Given the description of an element on the screen output the (x, y) to click on. 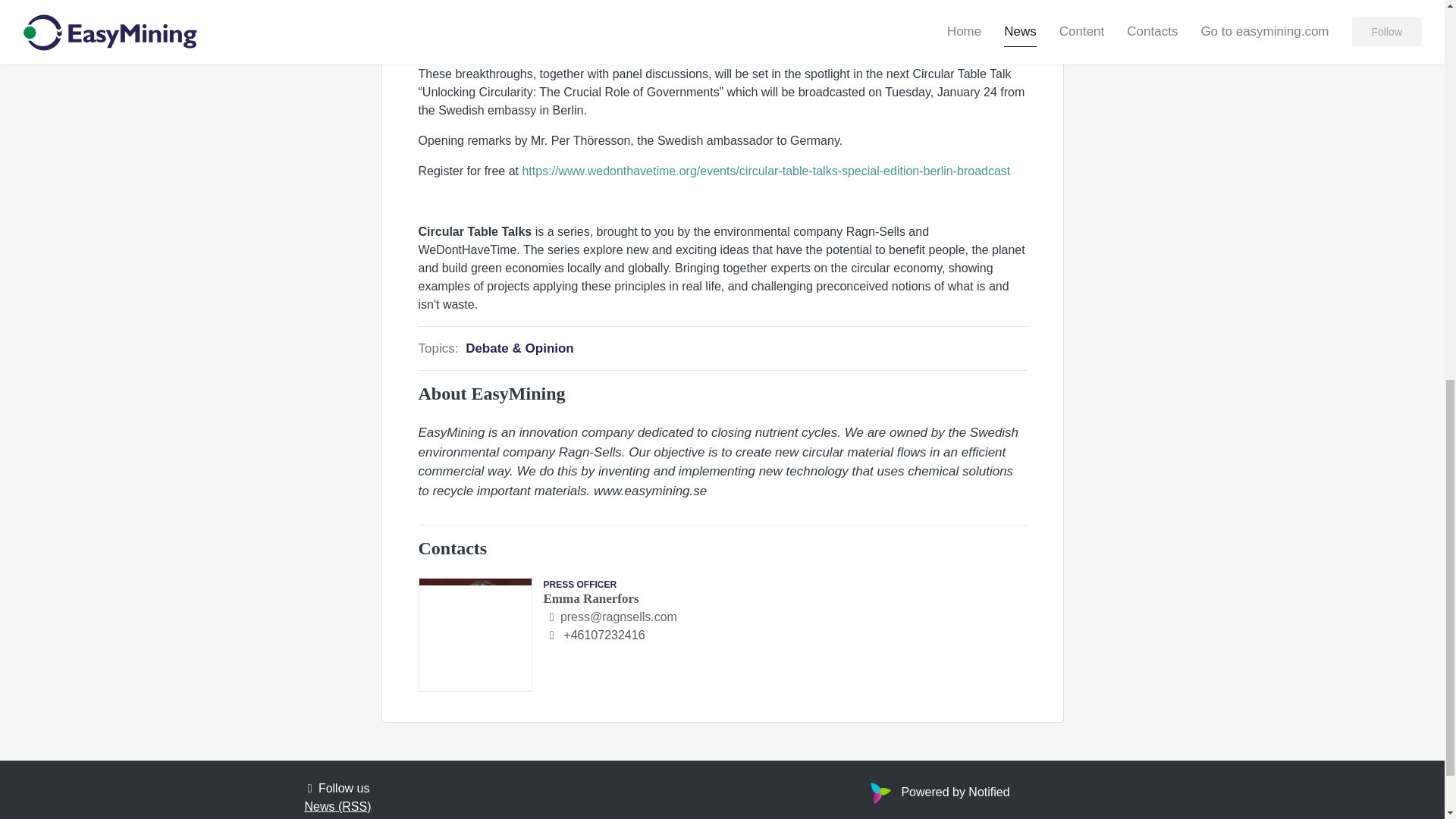
Powered by Notified (937, 791)
